Given the description of an element on the screen output the (x, y) to click on. 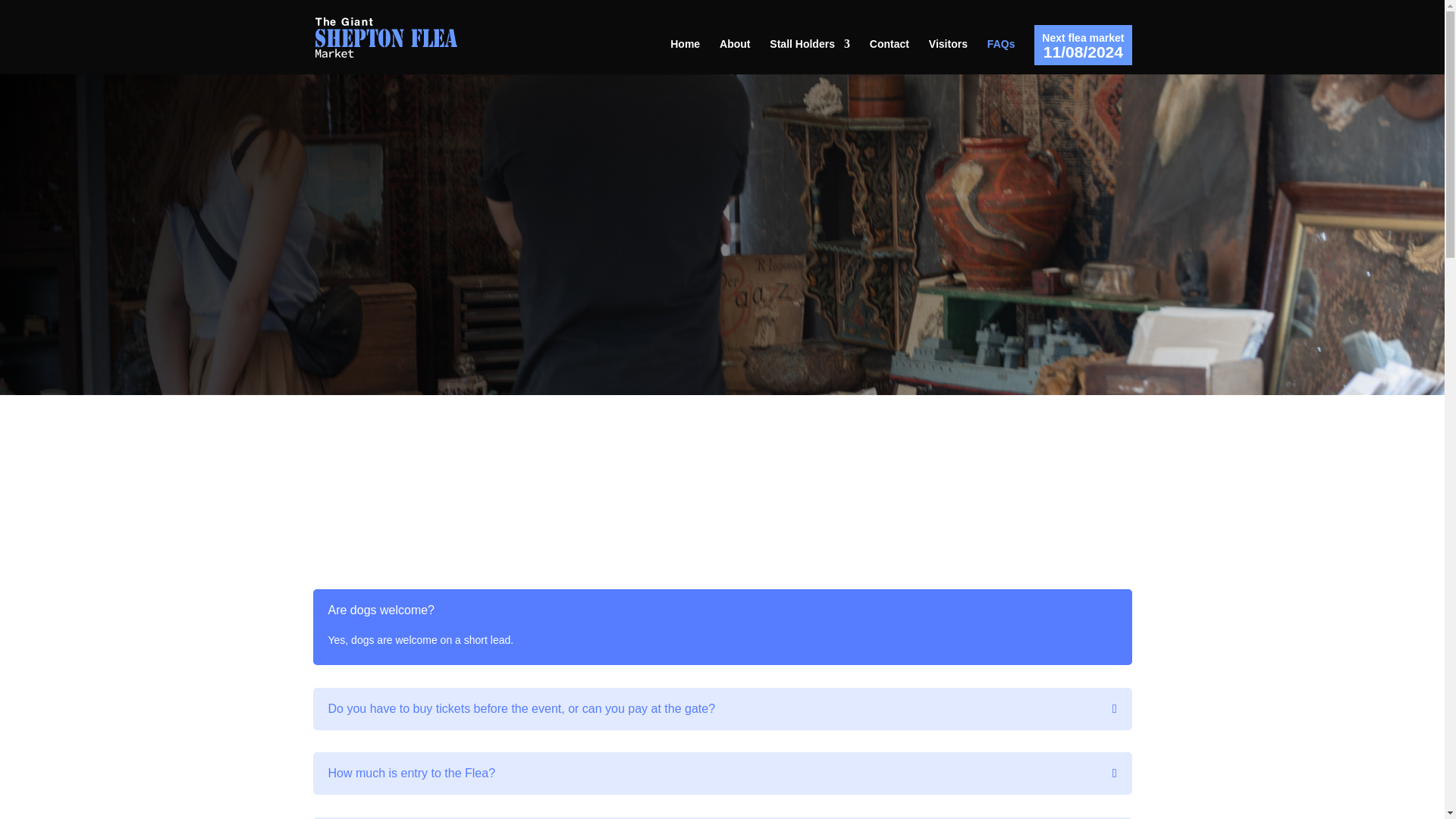
Contact (888, 56)
Visitors (948, 56)
Stall Holders (810, 56)
